Given the description of an element on the screen output the (x, y) to click on. 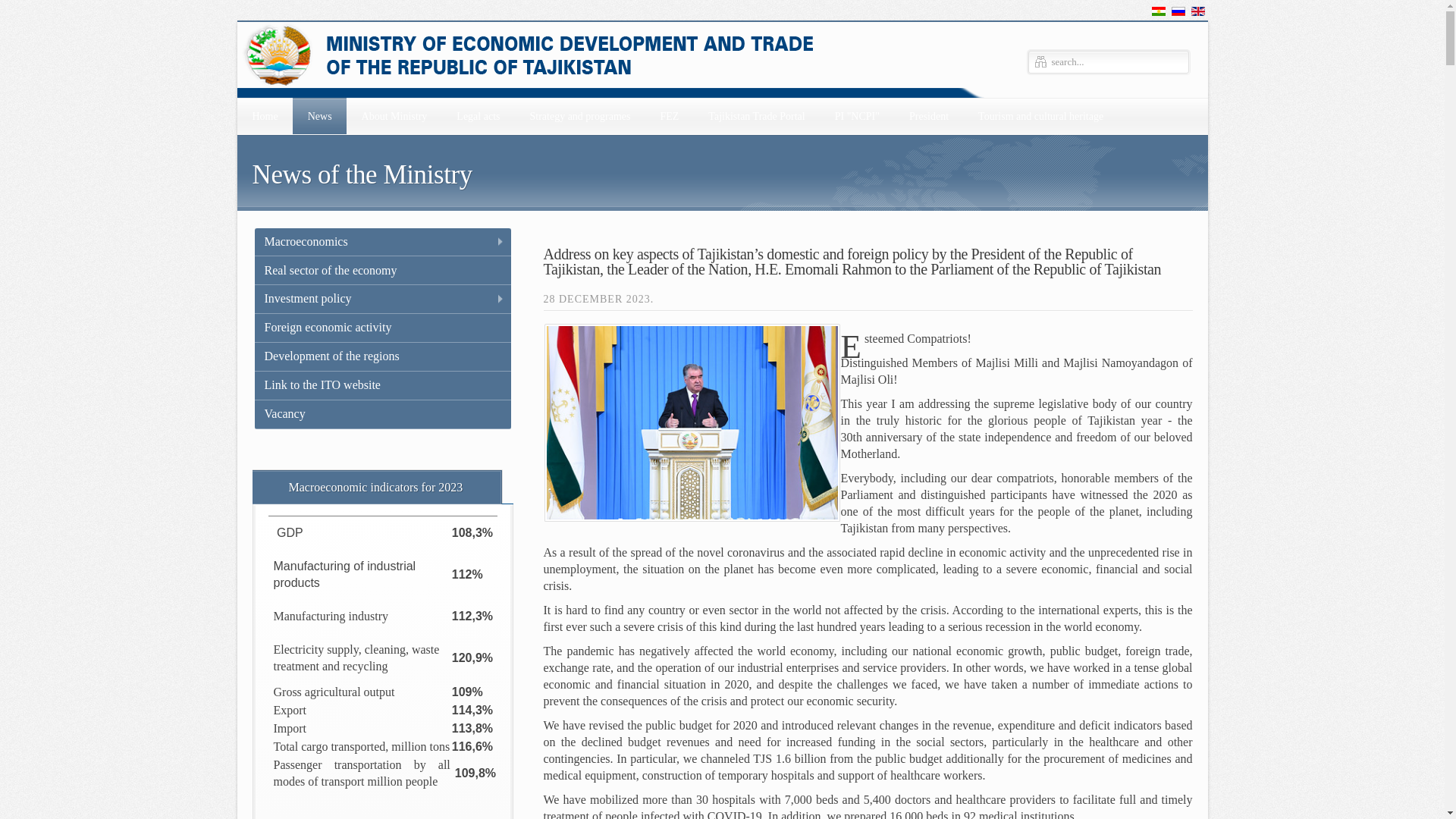
FEZ (669, 115)
President (927, 115)
Reset (12, 4)
Home (263, 115)
Tajikistan Trade Portal (755, 115)
PI "NCPI" (856, 115)
Strategy and programes (579, 115)
